Given the description of an element on the screen output the (x, y) to click on. 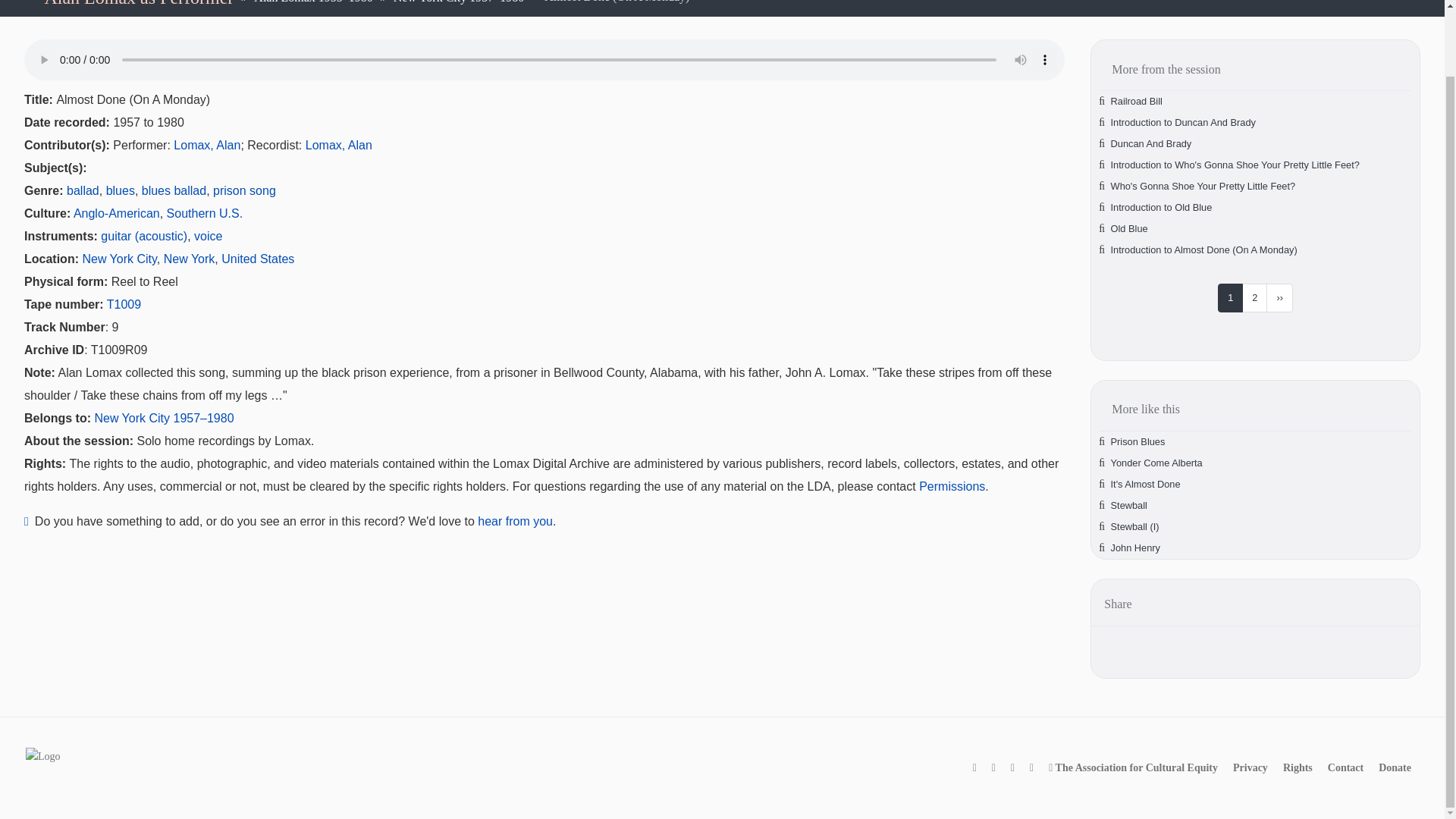
New York (189, 258)
hear from you (515, 521)
ballad (82, 190)
New York City (118, 258)
blues (120, 190)
T1009 (123, 304)
Lomax, Alan (338, 144)
prison song (244, 190)
Introduction to Duncan And Brady (1182, 122)
Alan Lomax as Performer (137, 3)
blues ballad (173, 190)
Railroad Bill (1135, 101)
voice (207, 236)
Go to next page (1279, 297)
Lomax, Alan (206, 144)
